Given the description of an element on the screen output the (x, y) to click on. 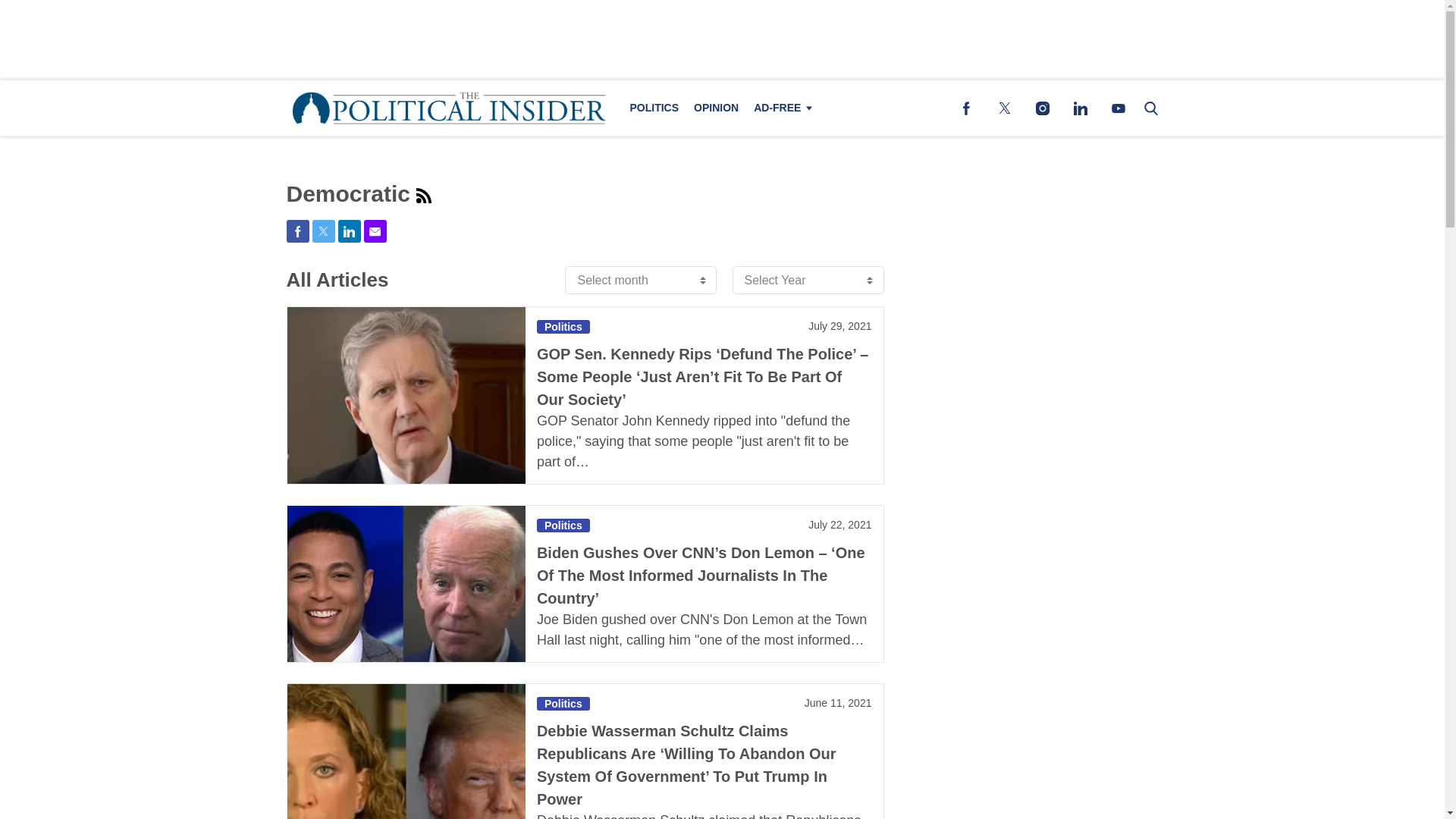
Share on LinkedIn (349, 231)
Share on Twitter (323, 231)
Politics (563, 703)
Politics (563, 525)
Share via Email (375, 231)
Politics (563, 326)
Share on Facebook (297, 231)
Group (423, 195)
POLITICS (653, 107)
AD-FREE (780, 107)
OPINION (715, 107)
